Given the description of an element on the screen output the (x, y) to click on. 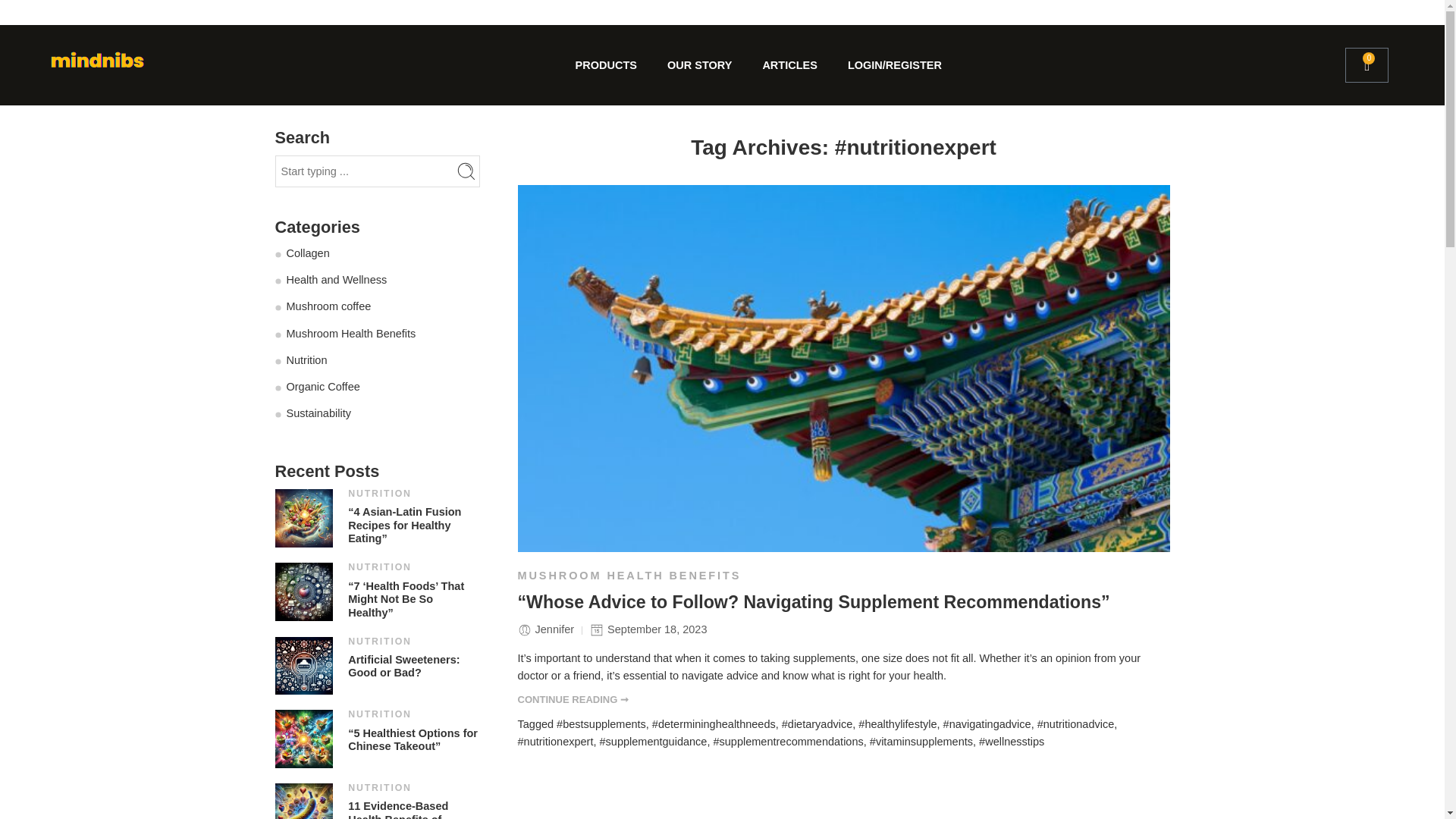
Jennifer (552, 631)
MUSHROOM HEALTH BENEFITS (628, 575)
By Jennifer (552, 631)
PRODUCTS (606, 64)
OUR STORY (699, 64)
0 (1367, 64)
ARTICLES (789, 64)
September 18, 2023 (647, 631)
Artificial Sweeteners: Good or Bad? (413, 666)
Artificial Sweeteners: Good or Bad? (304, 664)
